Given the description of an element on the screen output the (x, y) to click on. 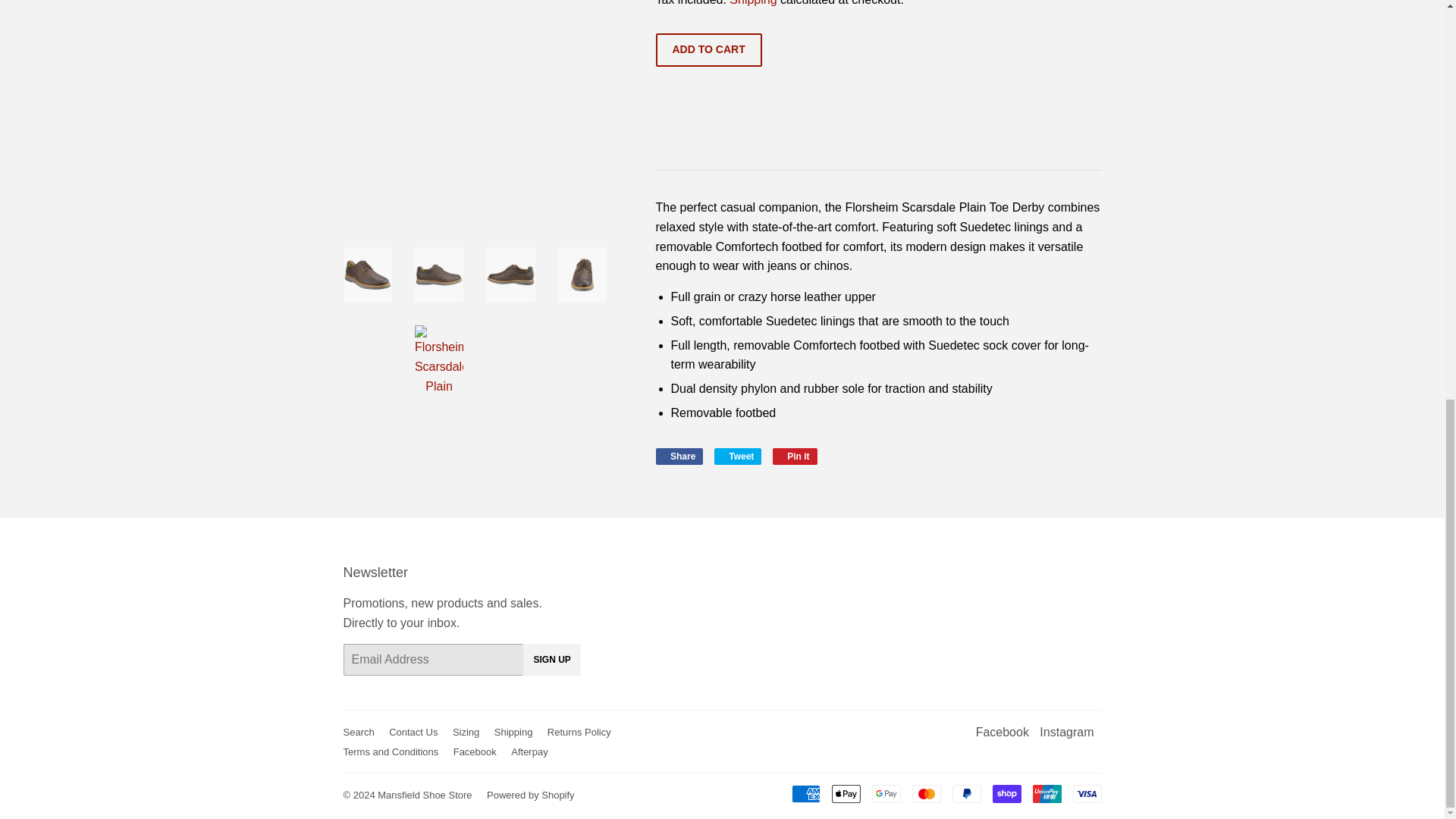
Apple Pay (845, 793)
Shipping (752, 2)
Mastercard (925, 793)
ADD TO CART (708, 49)
PayPal (966, 793)
Union Pay (1046, 793)
Mansfield Shoe Store on Facebook (794, 456)
Visa (679, 456)
